Given the description of an element on the screen output the (x, y) to click on. 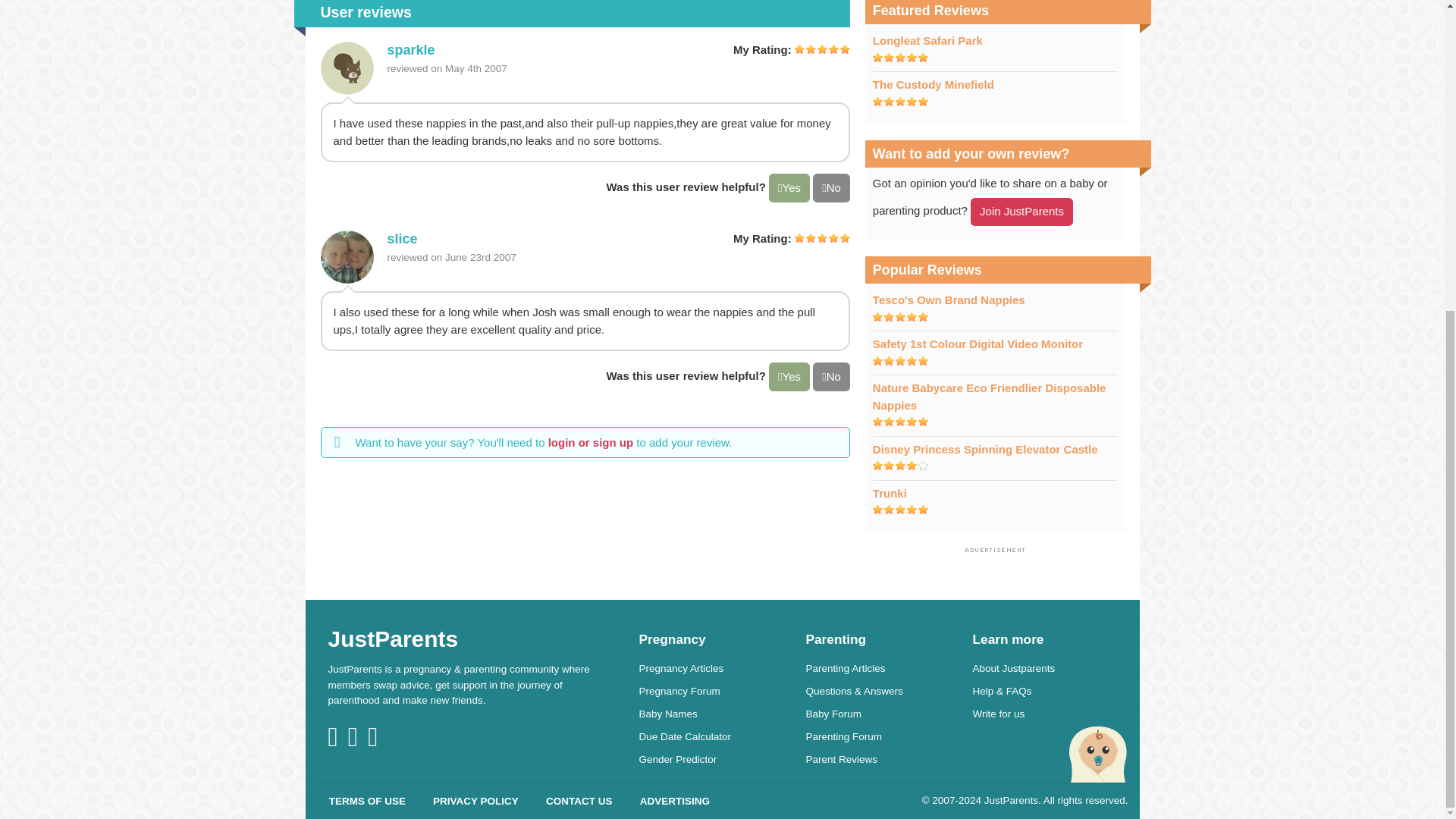
slice (346, 256)
Excellent (822, 237)
sparkle (346, 68)
No (831, 376)
Join JustParents (1022, 212)
Nature Babycare Eco Friendlier Disposable Nappies (989, 396)
Excellent (900, 420)
Longleat Safari Park (927, 40)
sparkle (410, 49)
Trunki (889, 492)
Yes (788, 187)
login or sign up (590, 441)
Excellent (900, 316)
Excellent (900, 360)
Excellent (900, 509)
